Given the description of an element on the screen output the (x, y) to click on. 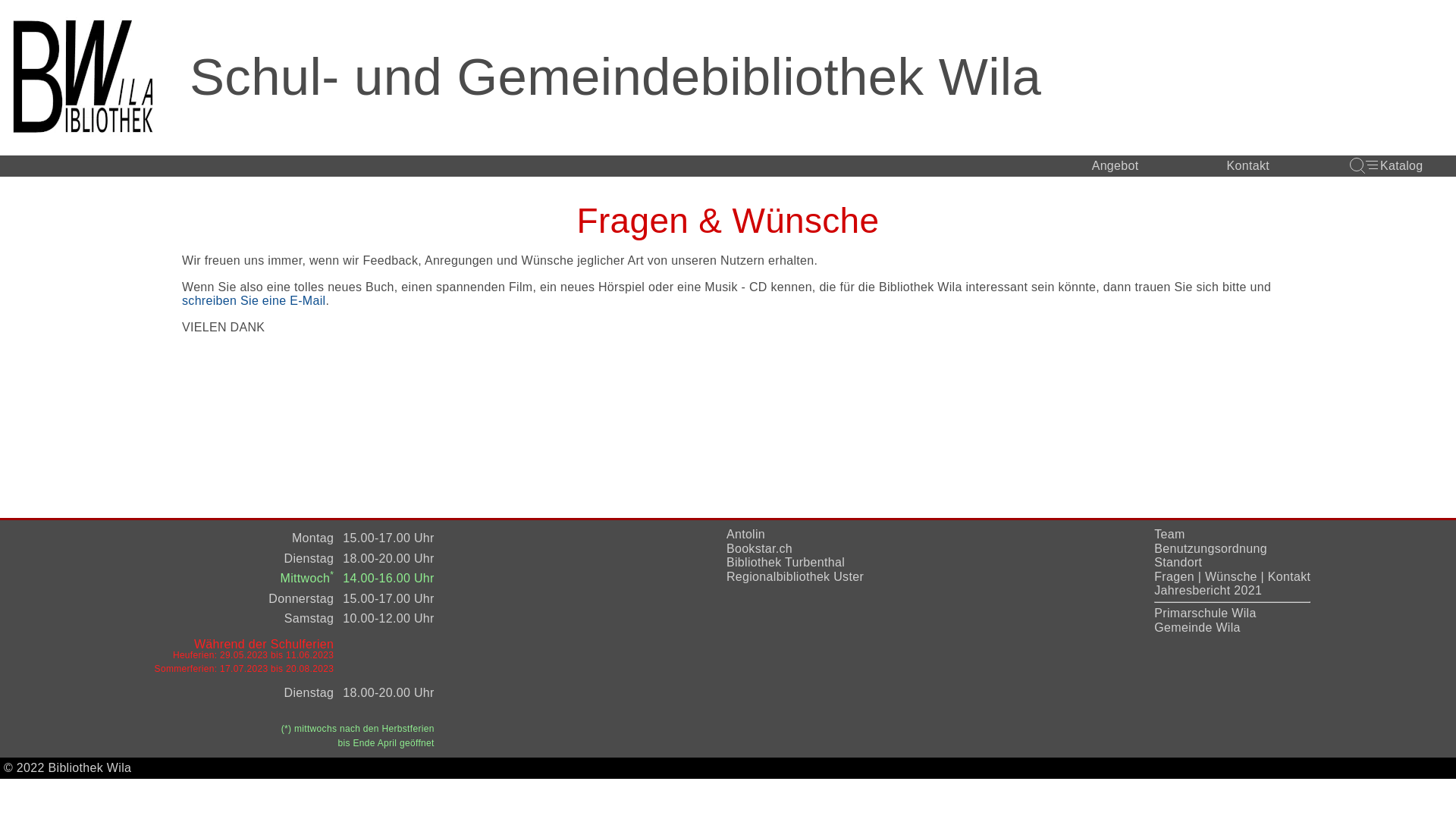
Jahresbericht 2021 Element type: text (1207, 589)
Antolin Element type: text (745, 533)
Primarschule Wila Element type: text (1204, 612)
Gemeinde Wila Element type: text (1197, 627)
Kontakt Element type: text (1289, 576)
schreiben Sie eine E-Mail Element type: text (253, 300)
Bookstar.ch Element type: text (759, 548)
Angebot Element type: text (1115, 165)
Benutzungsordnung Element type: text (1210, 548)
Regionalbibliothek Uster Element type: text (794, 576)
Bibliothek Turbenthal Element type: text (785, 561)
Team Element type: text (1169, 533)
Kontakt Element type: text (1248, 165)
Standort Element type: text (1177, 561)
